Given the description of an element on the screen output the (x, y) to click on. 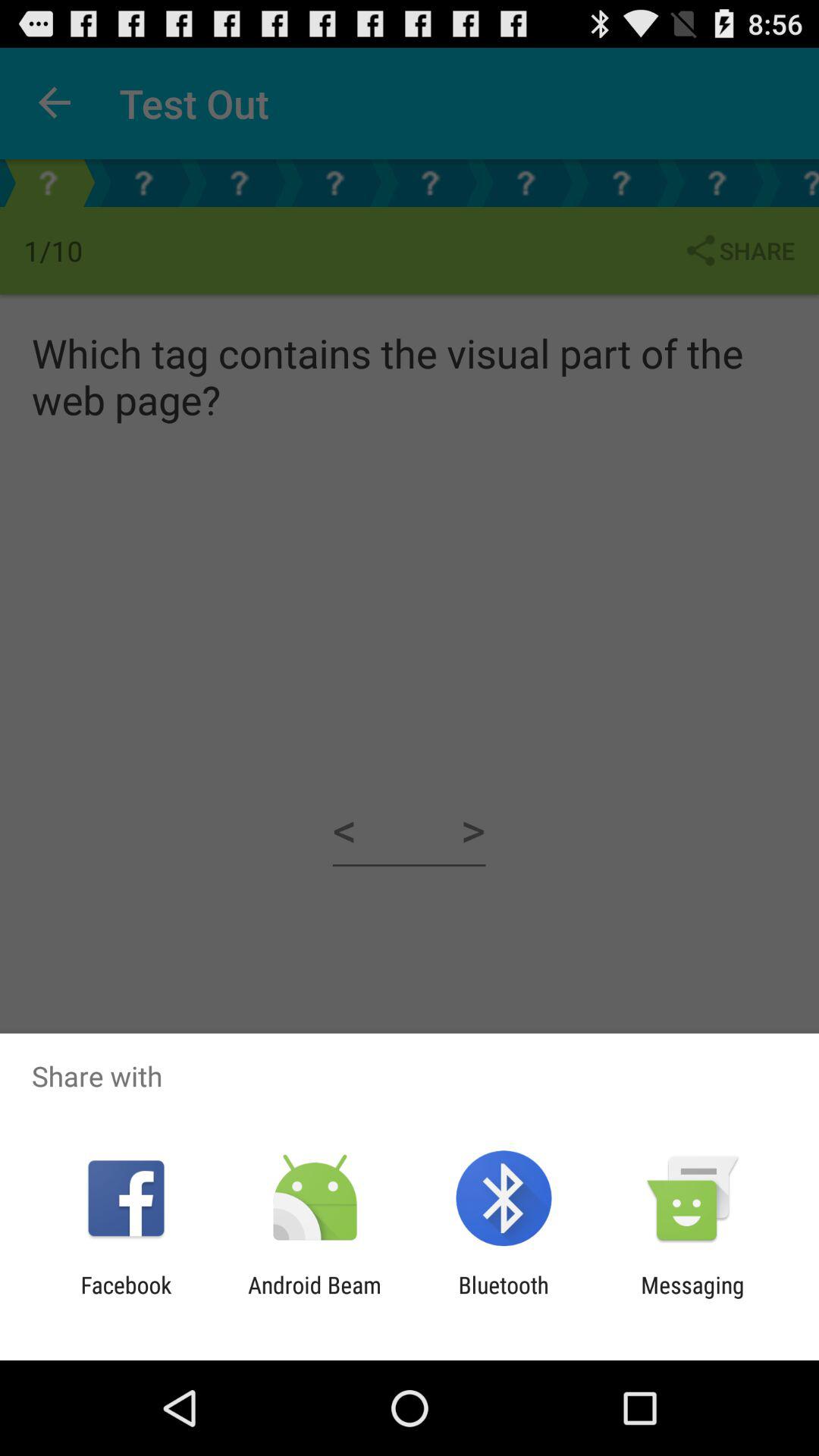
swipe to the facebook icon (125, 1298)
